Given the description of an element on the screen output the (x, y) to click on. 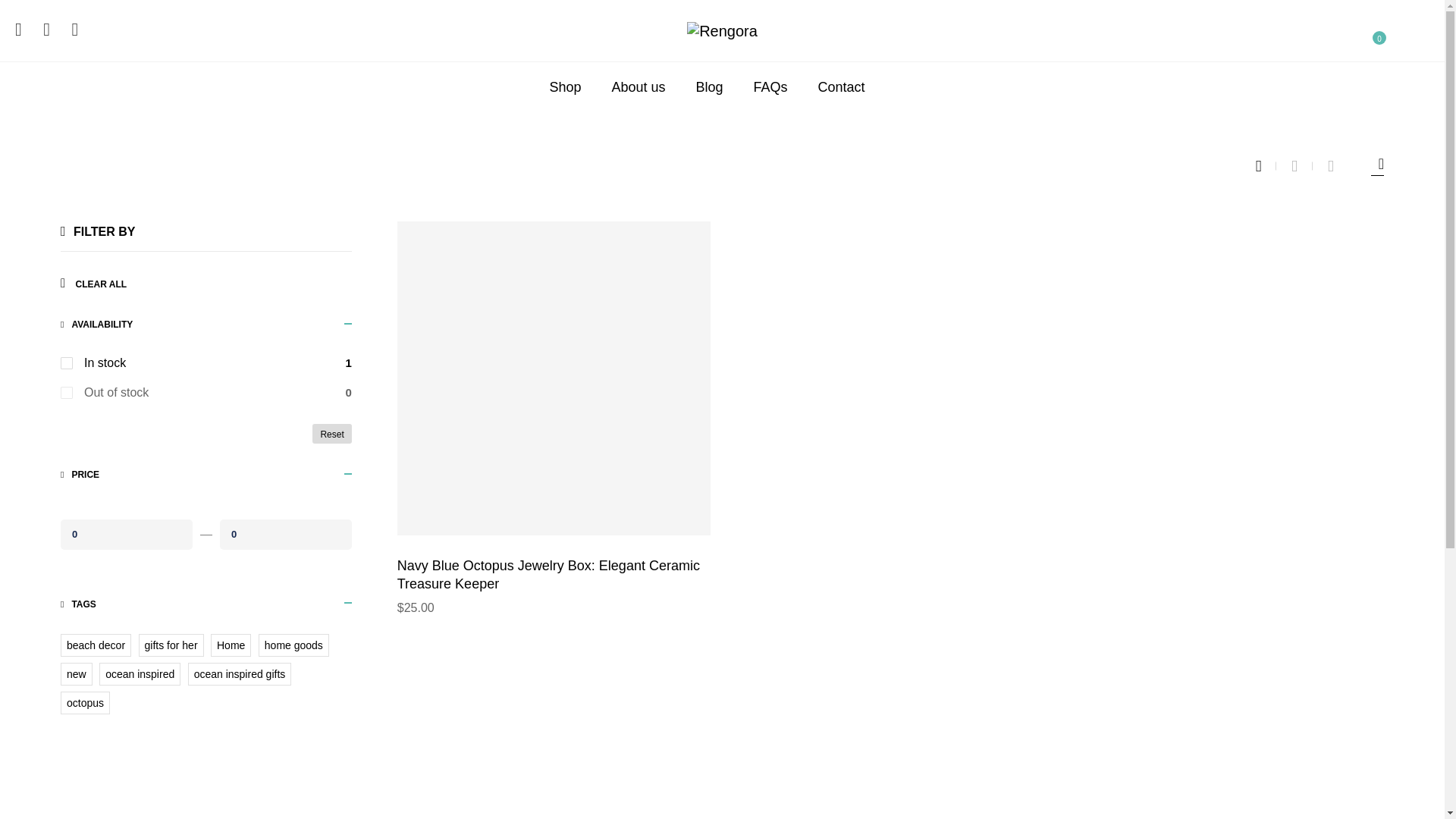
Show products matching tag Home (230, 644)
Contact (841, 87)
Shop (564, 86)
Grid View 2 (1302, 166)
Show products matching tag new (77, 673)
0 (126, 533)
Show products matching tag ocean inspired gifts (239, 673)
Show products matching tag ocean inspired (139, 673)
Show products matching tag gifts for her (170, 644)
0 (285, 533)
Grid View 3 (1265, 166)
Show products matching tag beach decor (96, 644)
Blog (709, 87)
Show products matching tag home goods (294, 644)
Show products matching tag octopus (85, 702)
